Given the description of an element on the screen output the (x, y) to click on. 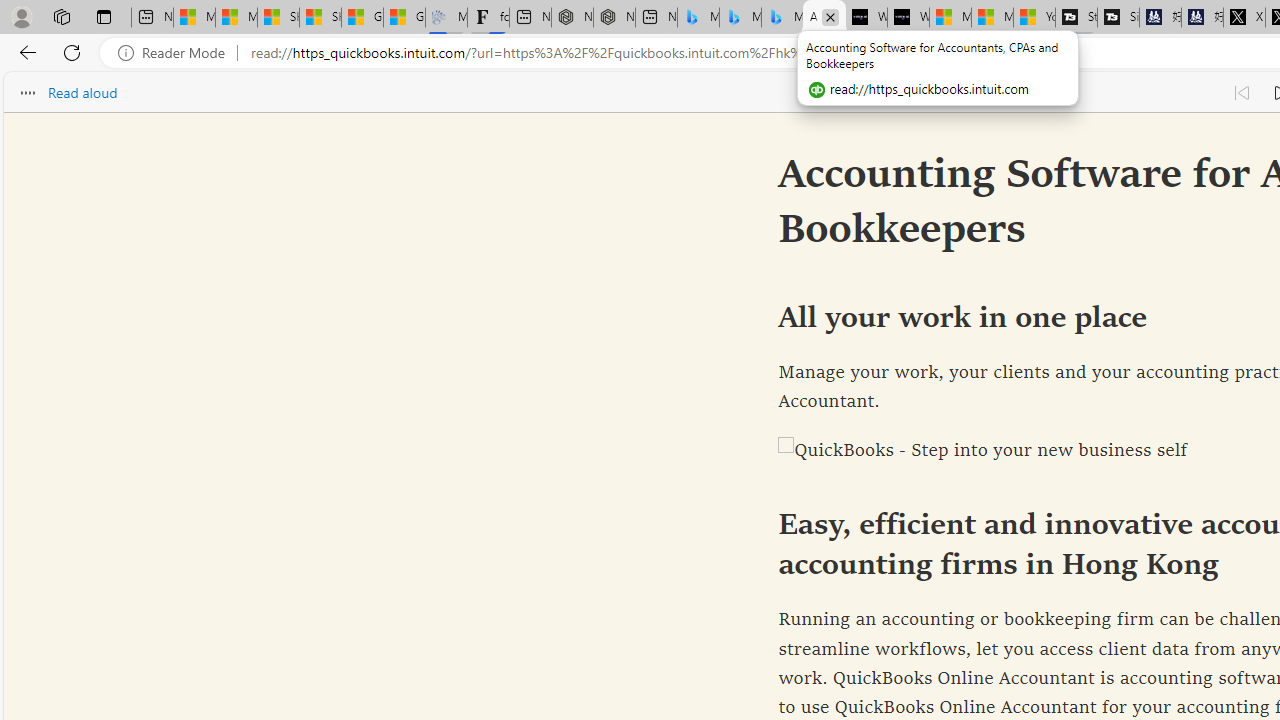
Read previous paragraph (1242, 92)
Accounting Software for Accountants, CPAs and Bookkeepers (823, 17)
Reader Mode (177, 53)
